Given the description of an element on the screen output the (x, y) to click on. 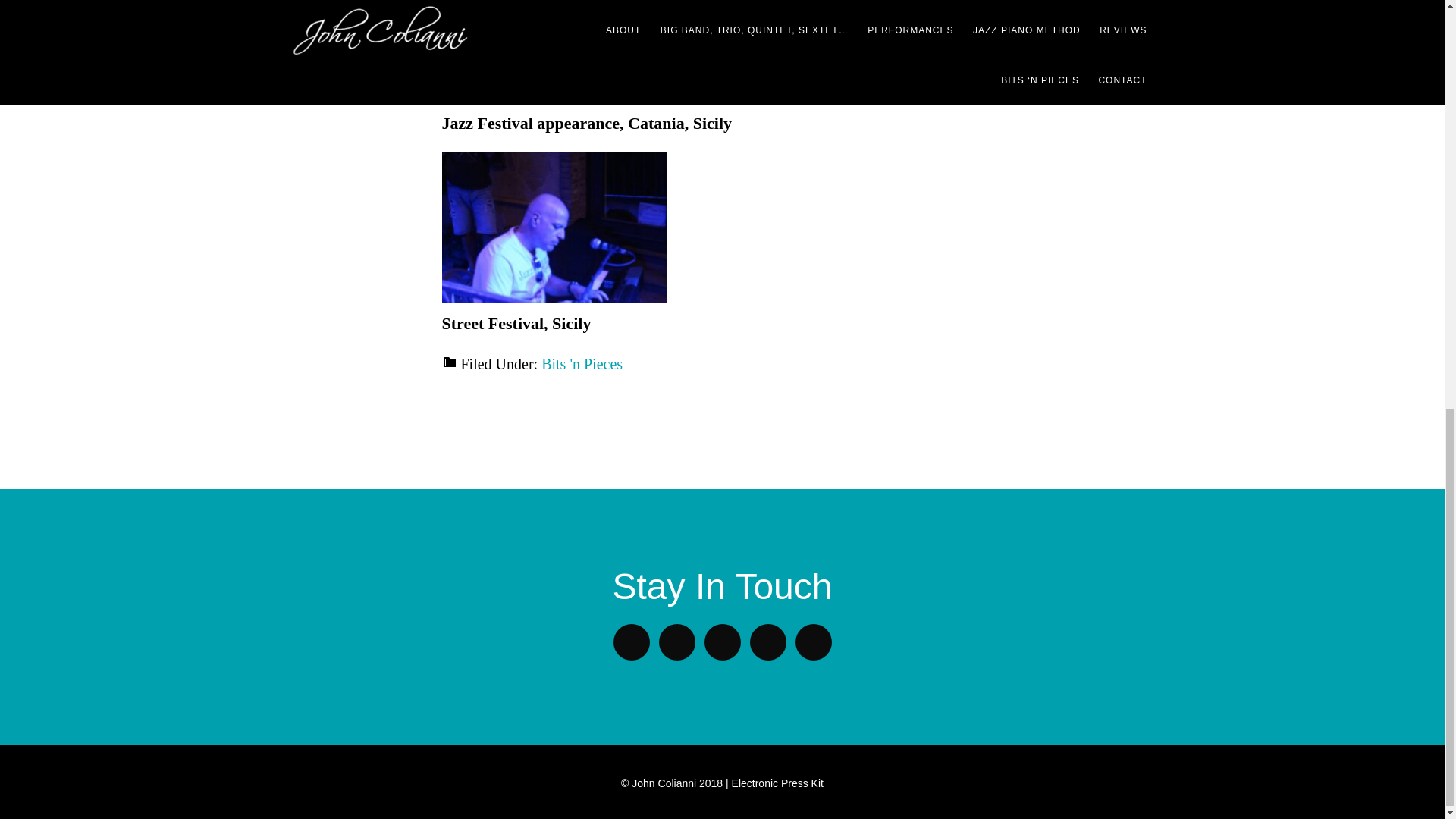
Bits 'n Pieces (582, 363)
Electronic Press Kit (778, 783)
